Given the description of an element on the screen output the (x, y) to click on. 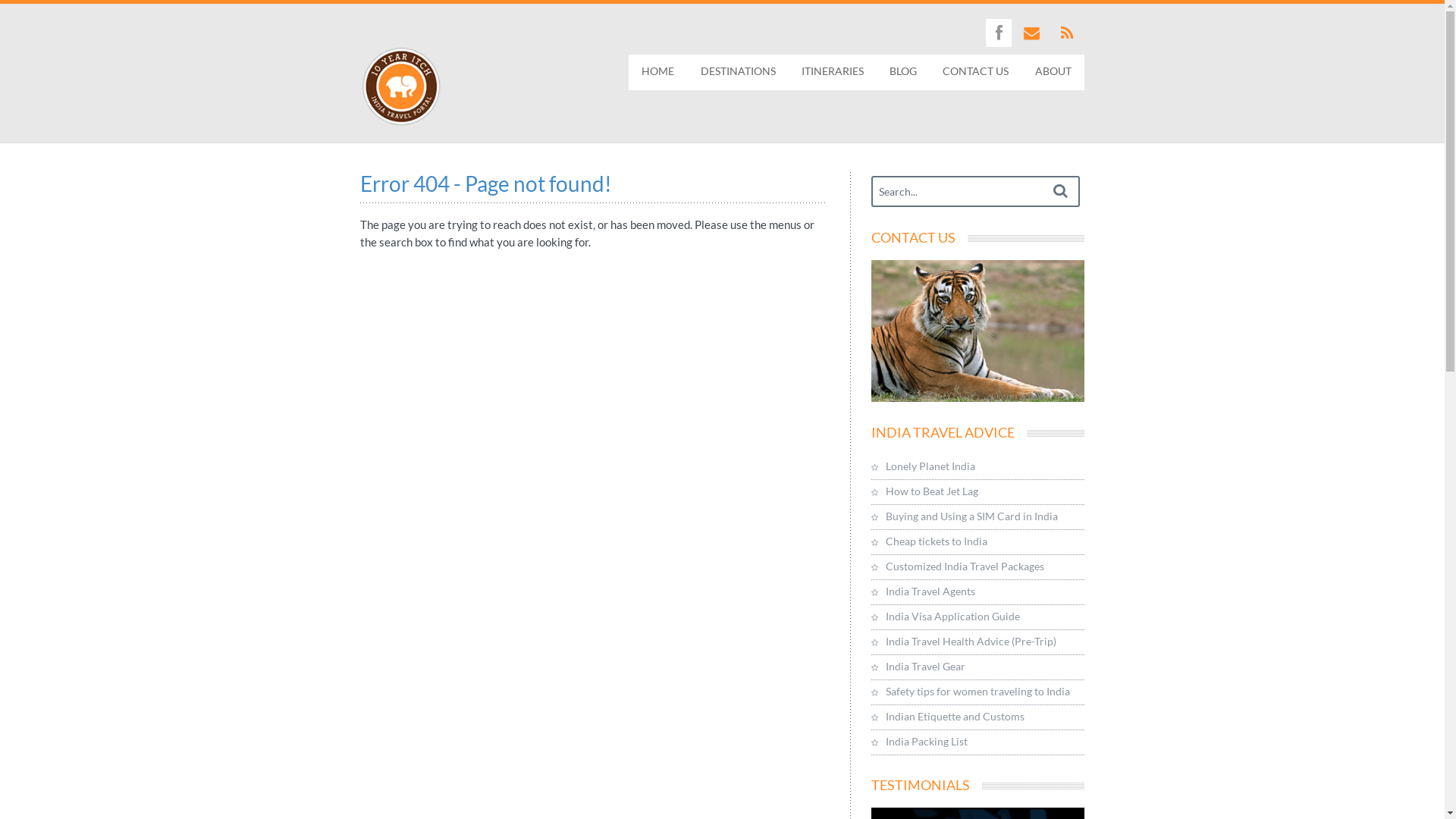
Lonely Planet India Element type: text (977, 467)
India Travel Health Advice (Pre-Trip) Element type: text (977, 642)
Safety tips for women traveling to India Element type: text (977, 692)
BLOG Element type: text (902, 72)
ITINERARIES Element type: text (832, 72)
India Travel Gear Element type: text (977, 667)
Customized India Travel Packages Element type: text (977, 567)
Search Element type: text (1059, 190)
India Travel Agents Element type: text (977, 592)
ABOUT Element type: text (1053, 72)
Indian Etiquette and Customs Element type: text (977, 717)
India Packing List Element type: text (977, 742)
10 Year Itch : India Travel Portal Element type: hover (401, 86)
CONTACT US Element type: text (975, 72)
Contact Us Element type: hover (977, 330)
India Visa Application Guide Element type: text (977, 617)
Cheap tickets to India Element type: text (977, 542)
Contact Us Element type: hover (977, 393)
HOME Element type: text (657, 72)
Buying and Using a SIM Card in India Element type: text (977, 517)
DESTINATIONS Element type: text (737, 72)
How to Beat Jet Lag Element type: text (977, 492)
